Given the description of an element on the screen output the (x, y) to click on. 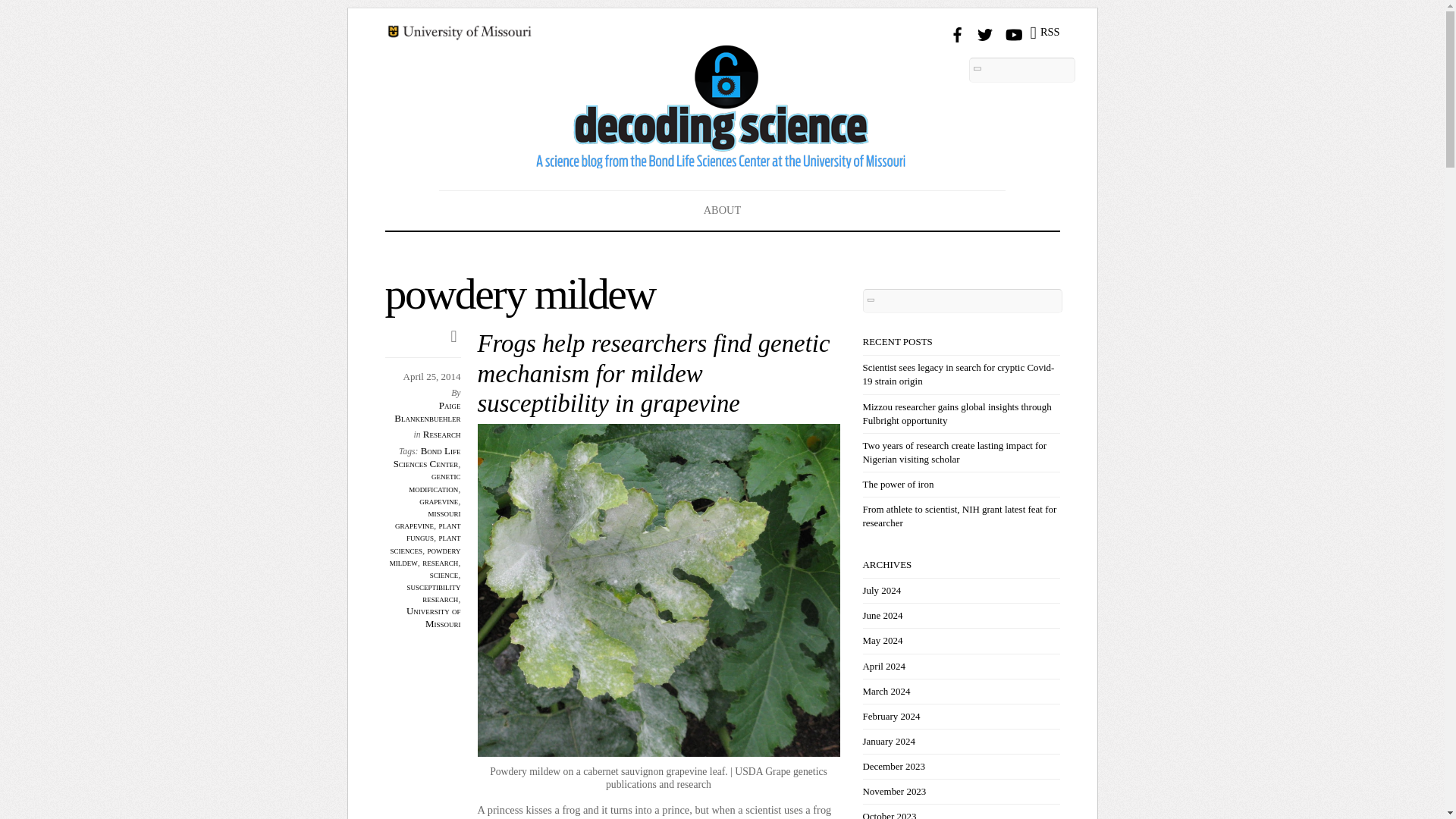
RSS (1044, 32)
genetic modification (434, 481)
Decoding Science (721, 153)
February 2024 (891, 715)
June 2024 (882, 614)
missouri grapevine (427, 518)
University of Missouri (433, 616)
ABOUT (722, 210)
Bond Life Sciences Center (427, 457)
Search (1022, 69)
March 2024 (887, 690)
grapevine (438, 500)
